Given the description of an element on the screen output the (x, y) to click on. 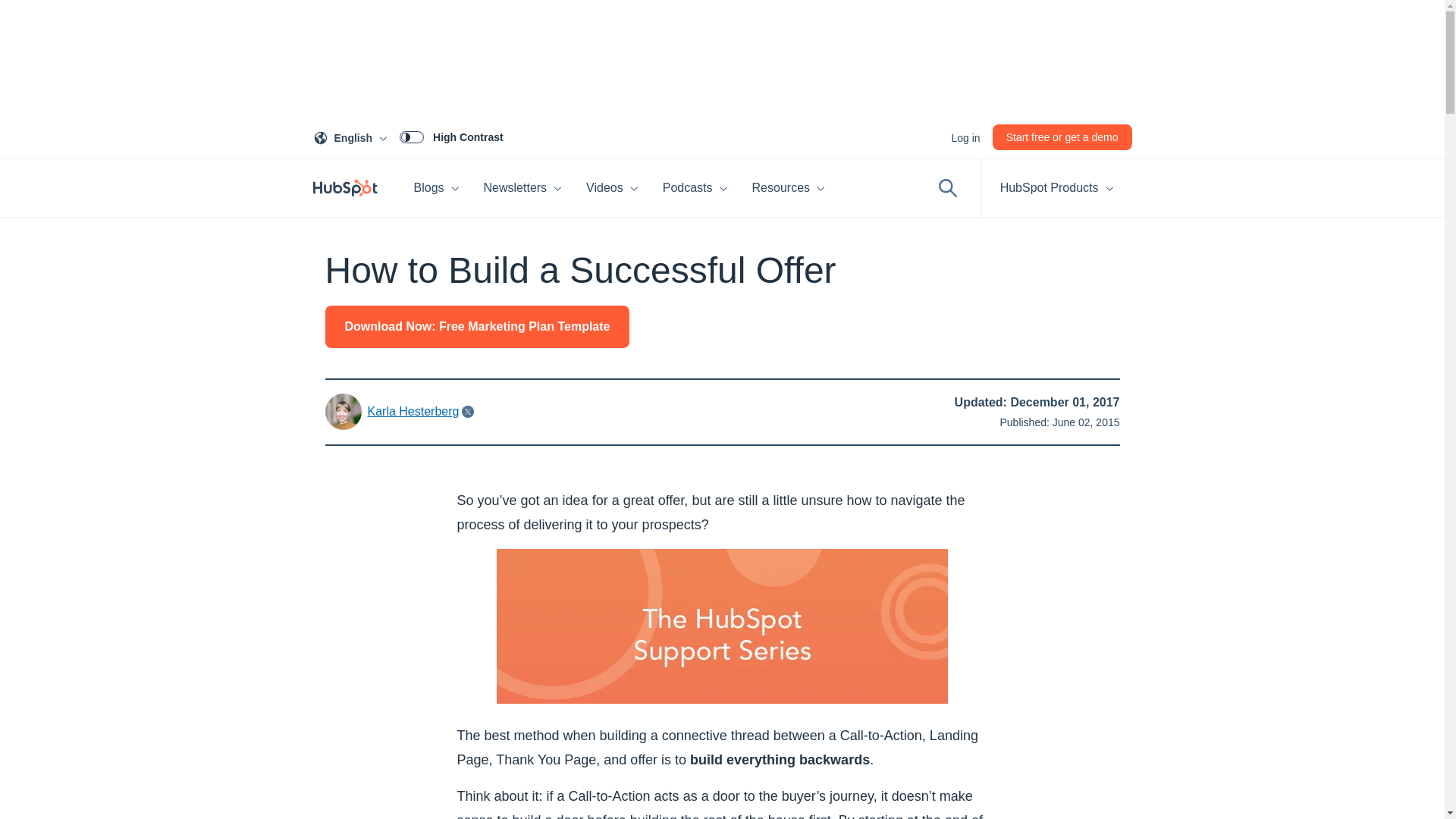
Videos (611, 187)
Newsletters (353, 136)
Start free or get a demo (523, 187)
Log in (1062, 136)
High Contrast (964, 137)
Blogs (450, 137)
